Given the description of an element on the screen output the (x, y) to click on. 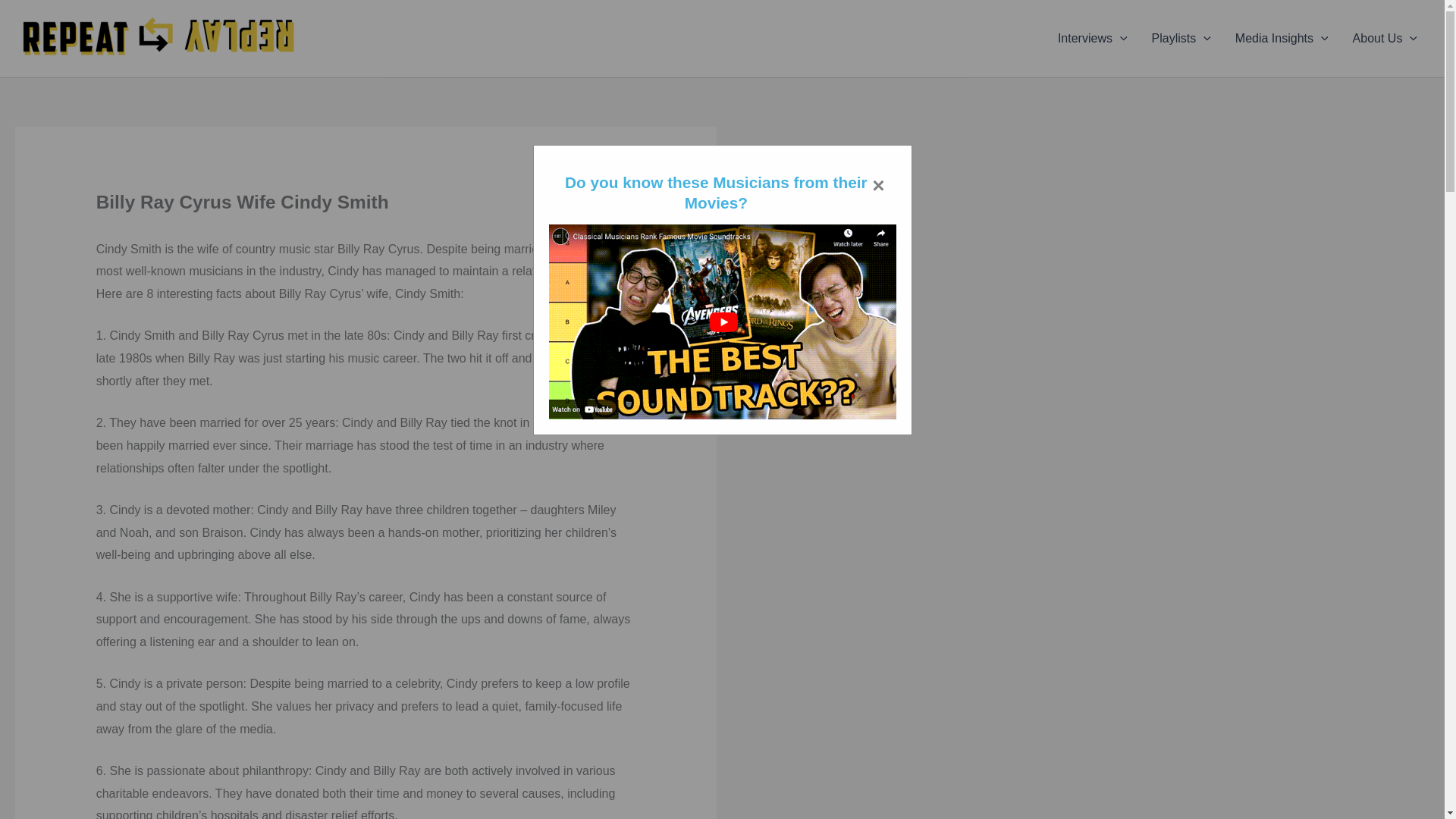
About Us (1384, 38)
Interviews (1092, 38)
Media Insights (1281, 38)
Playlists (1181, 38)
